Given the description of an element on the screen output the (x, y) to click on. 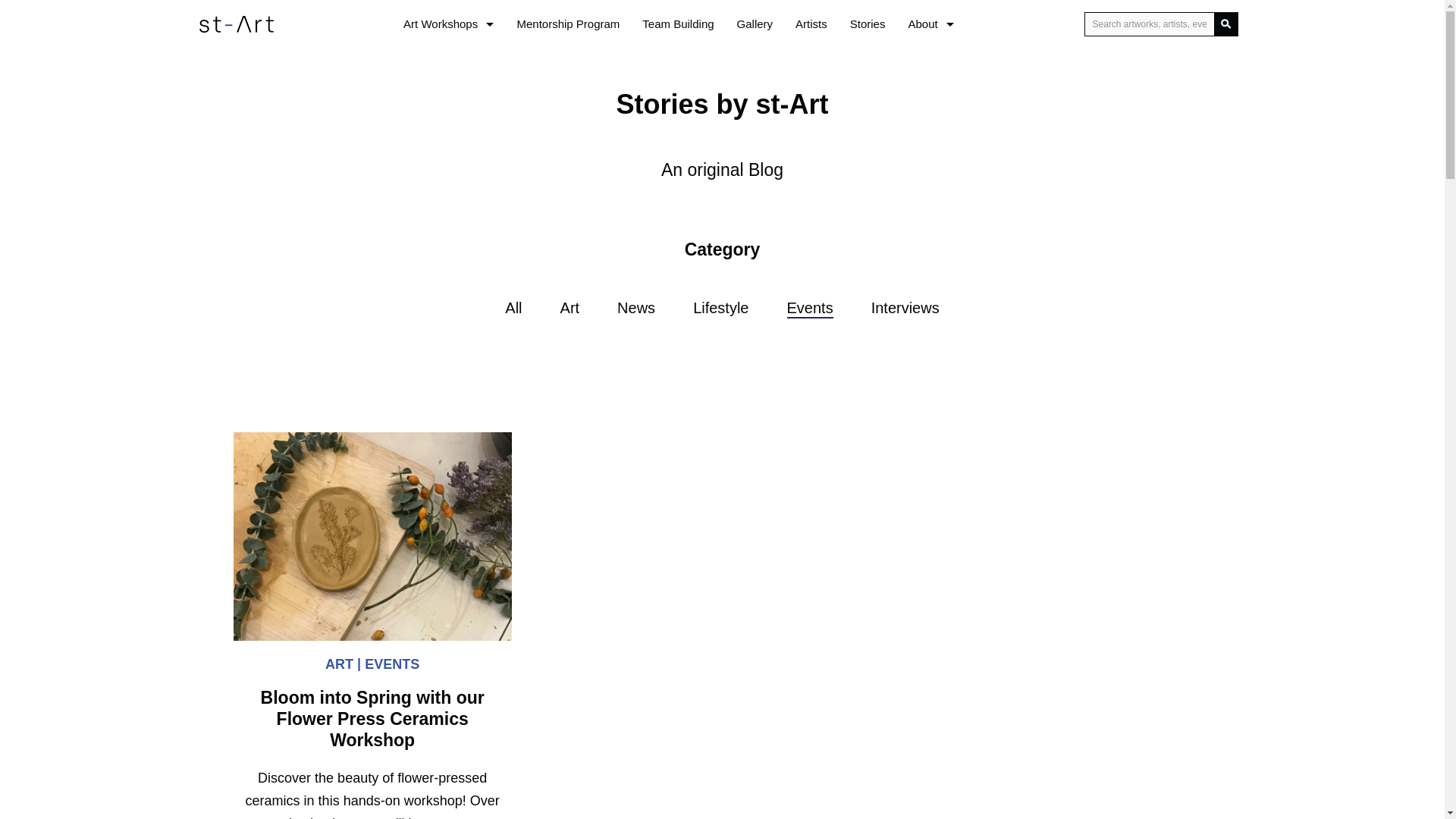
Artists (811, 23)
Events (809, 304)
News (636, 304)
Lifestyle (720, 304)
Interviews (904, 304)
Gallery (754, 23)
Art Workshops (448, 23)
About (929, 23)
Stories (867, 23)
Team Building (677, 23)
Mentorship Program (567, 23)
